Given the description of an element on the screen output the (x, y) to click on. 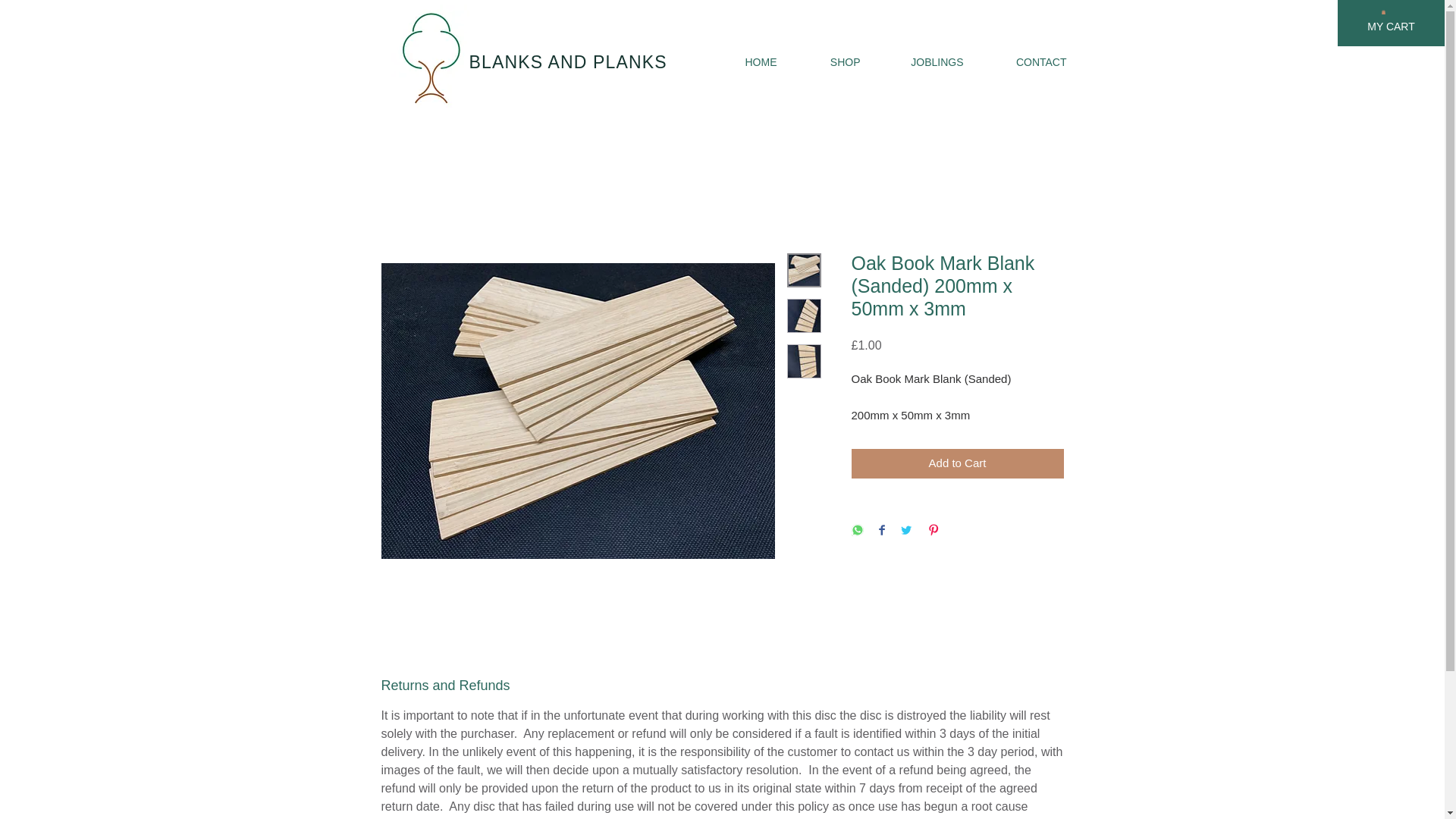
SHOP (830, 62)
HOME (743, 62)
JOBLINGS (923, 62)
BLANKS AND PLANKS (567, 62)
CONTACT (1026, 62)
Add to Cart (956, 463)
